Given the description of an element on the screen output the (x, y) to click on. 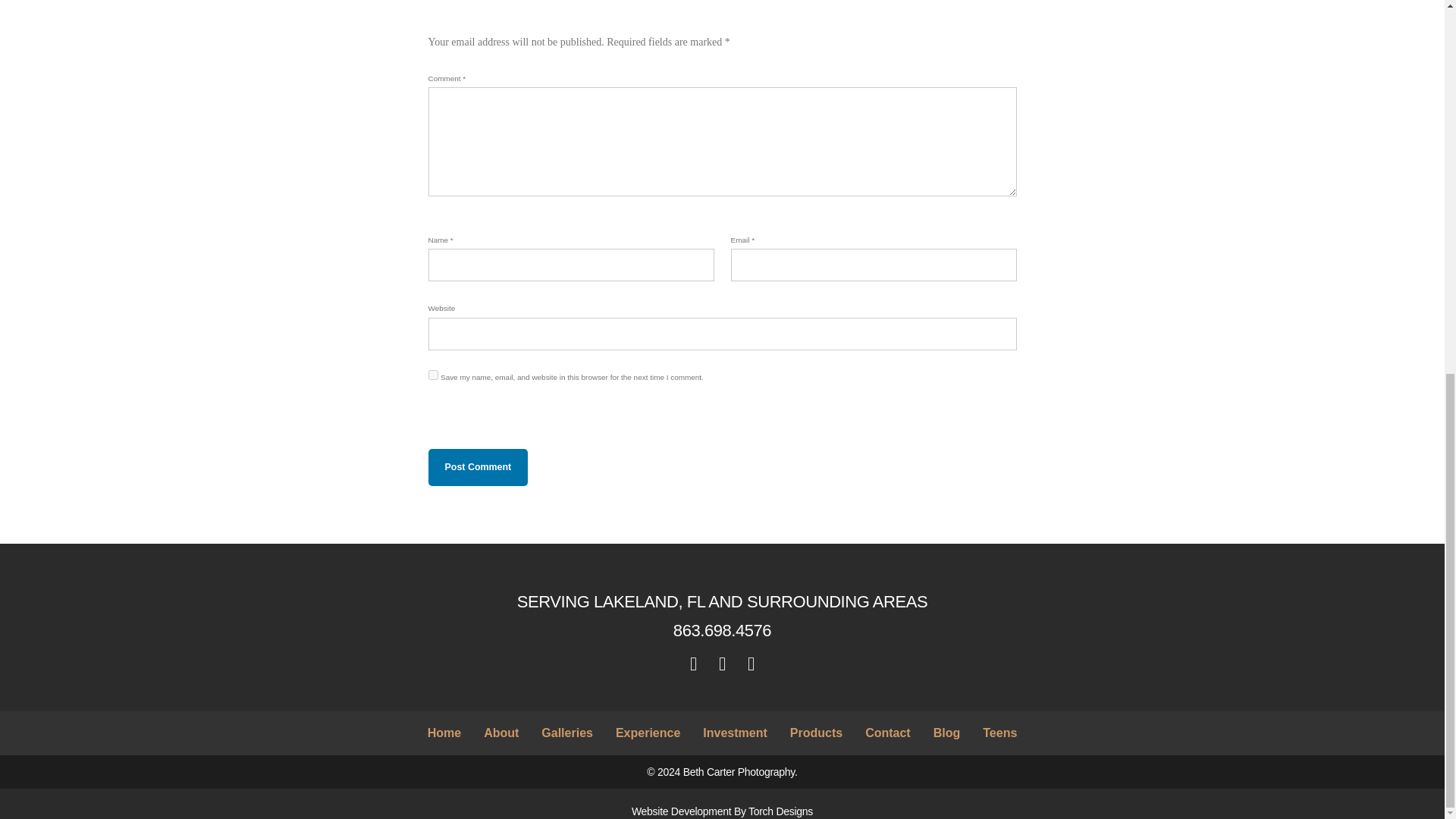
863.698.4576 (721, 629)
Post Comment (477, 466)
Post Comment (477, 466)
yes (433, 375)
